Given the description of an element on the screen output the (x, y) to click on. 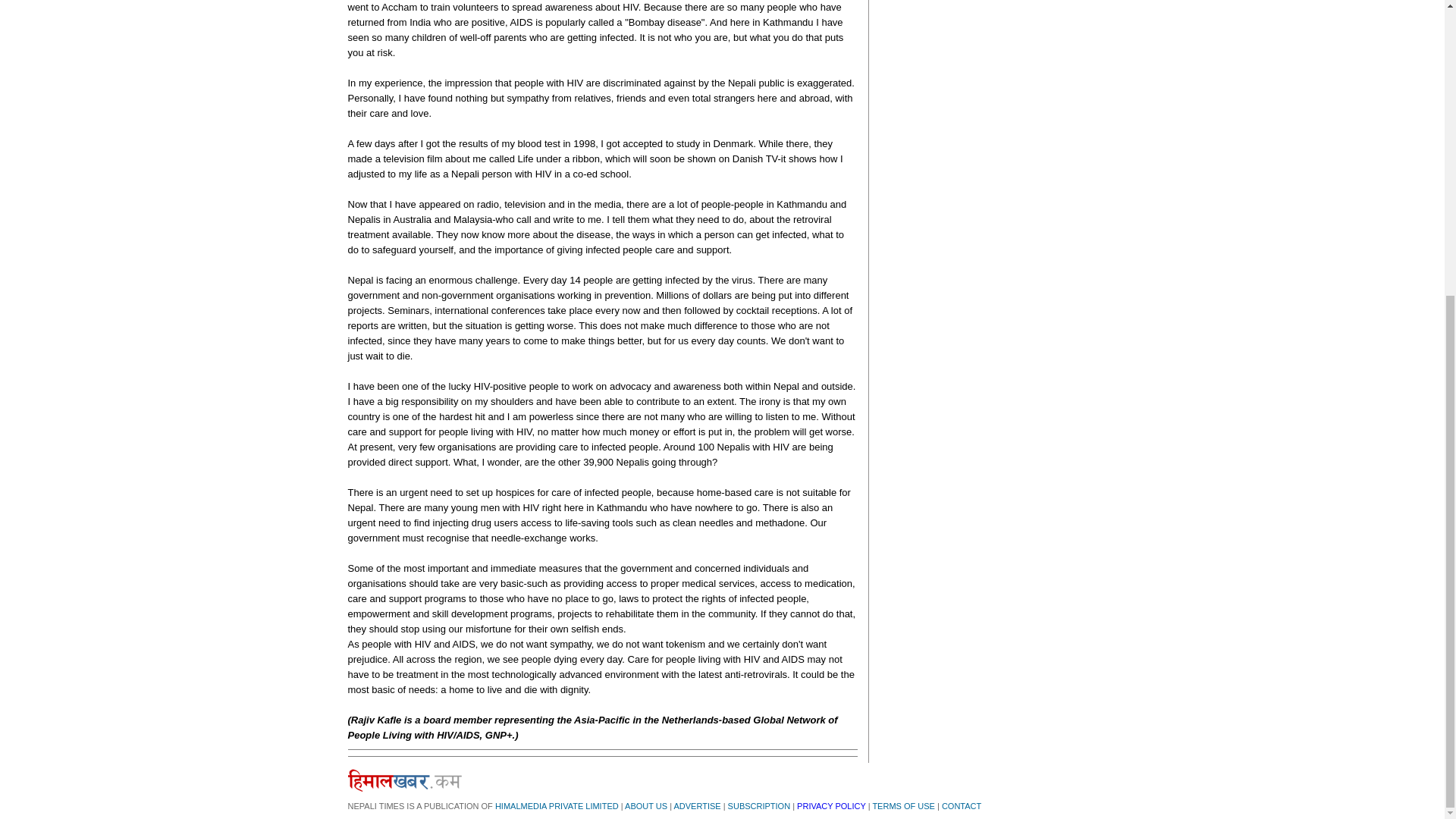
himalkhabar.com (404, 780)
HIMALMEDIA PRIVATE LIMITED (556, 805)
TERMS OF USE (903, 805)
SUBSCRIPTION (759, 805)
ABOUT US (645, 805)
PRIVACY POLICY (830, 805)
CONTACT (961, 805)
ADVERTISE (696, 805)
